Given the description of an element on the screen output the (x, y) to click on. 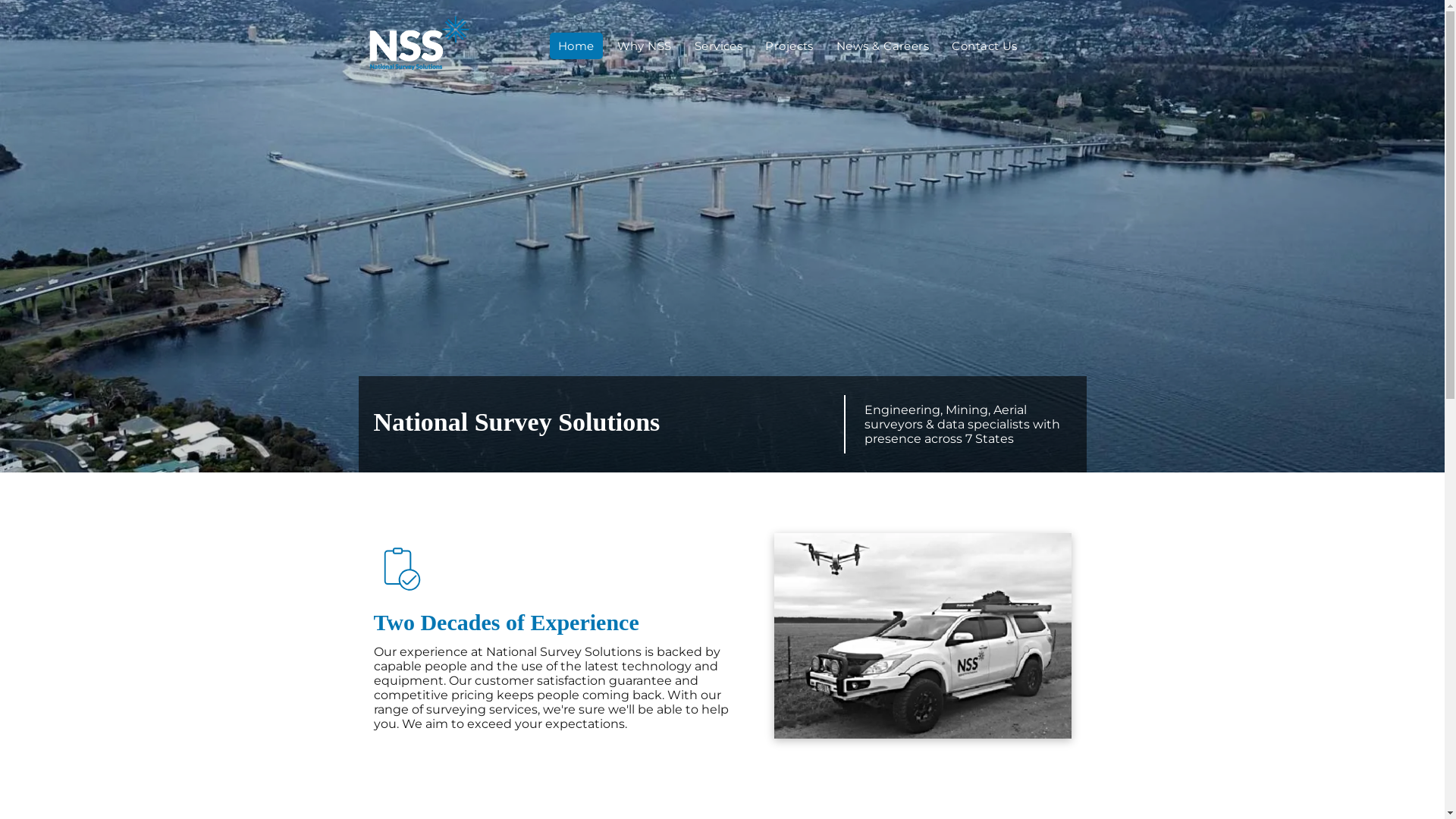
Services Element type: text (718, 45)
Home Element type: text (575, 45)
News & Careers Element type: text (882, 45)
Projects Element type: text (789, 45)
Contact Us Element type: text (984, 45)
Why NSS Element type: text (644, 45)
